Given the description of an element on the screen output the (x, y) to click on. 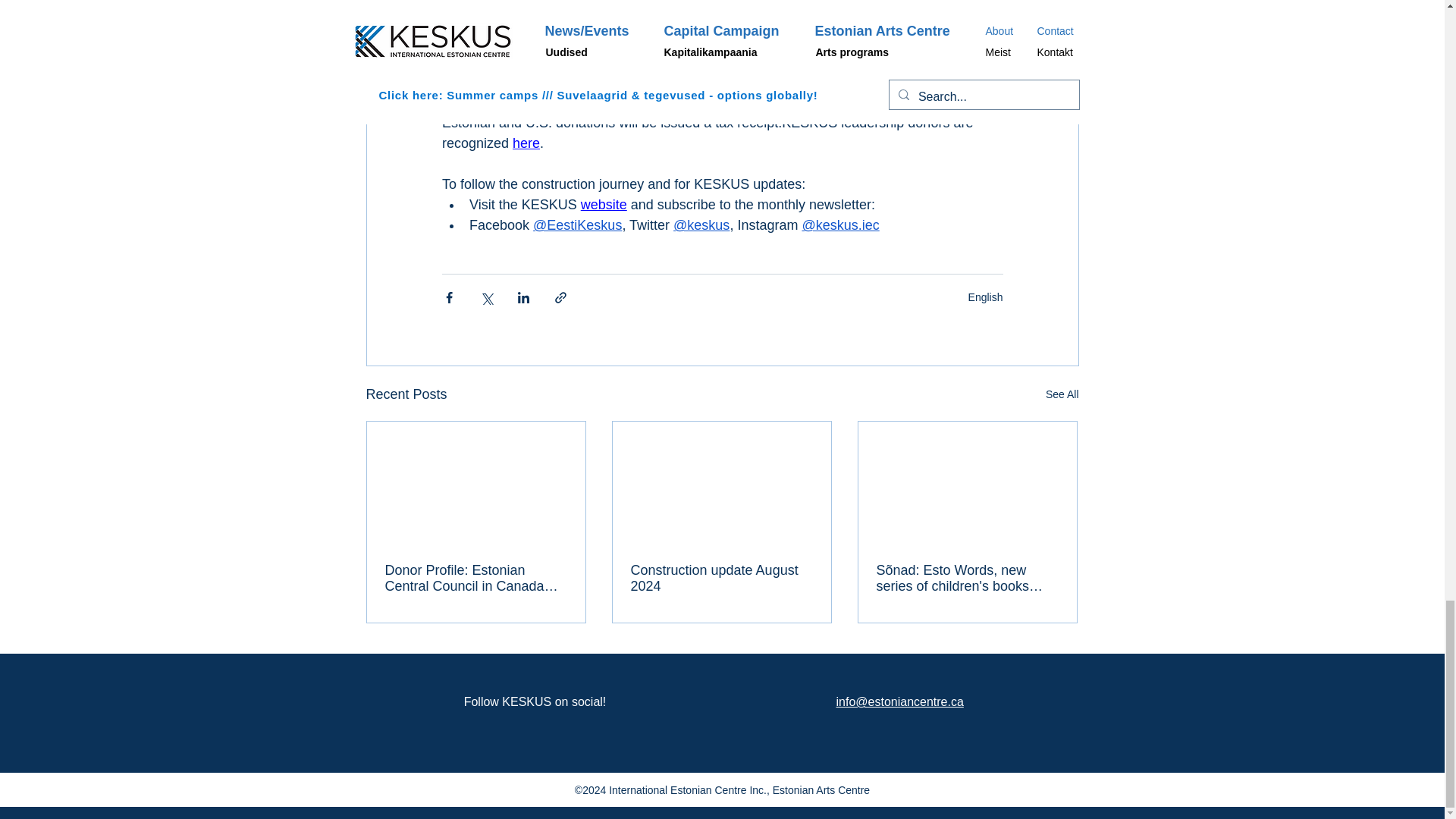
See All (1061, 394)
here (526, 142)
English (985, 297)
website (602, 204)
Construction update August 2024 (721, 578)
